Given the description of an element on the screen output the (x, y) to click on. 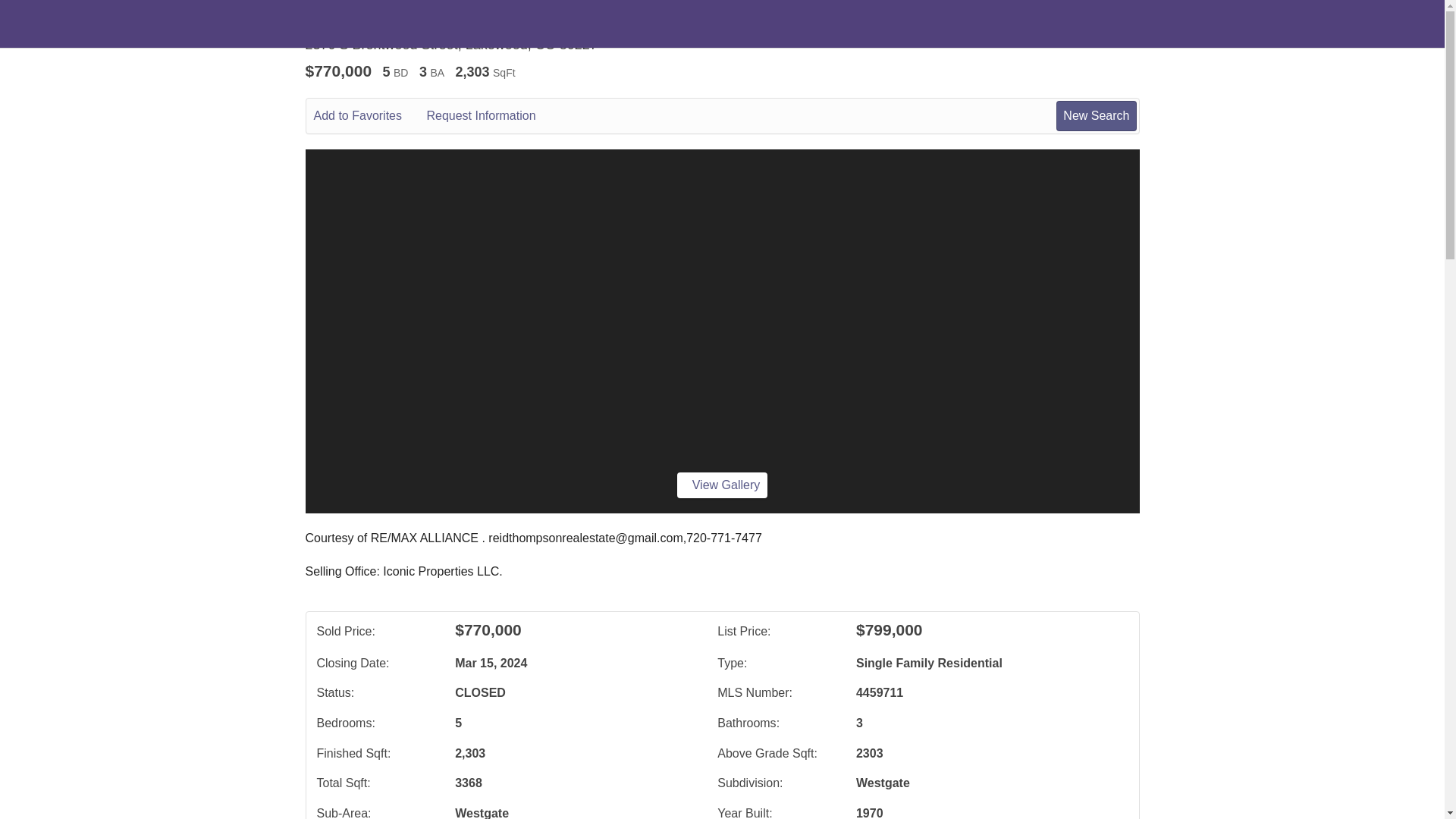
View Gallery (722, 484)
New Search (1096, 115)
Add to Favorites (368, 115)
Request Information (491, 115)
View Gallery (722, 484)
